Given the description of an element on the screen output the (x, y) to click on. 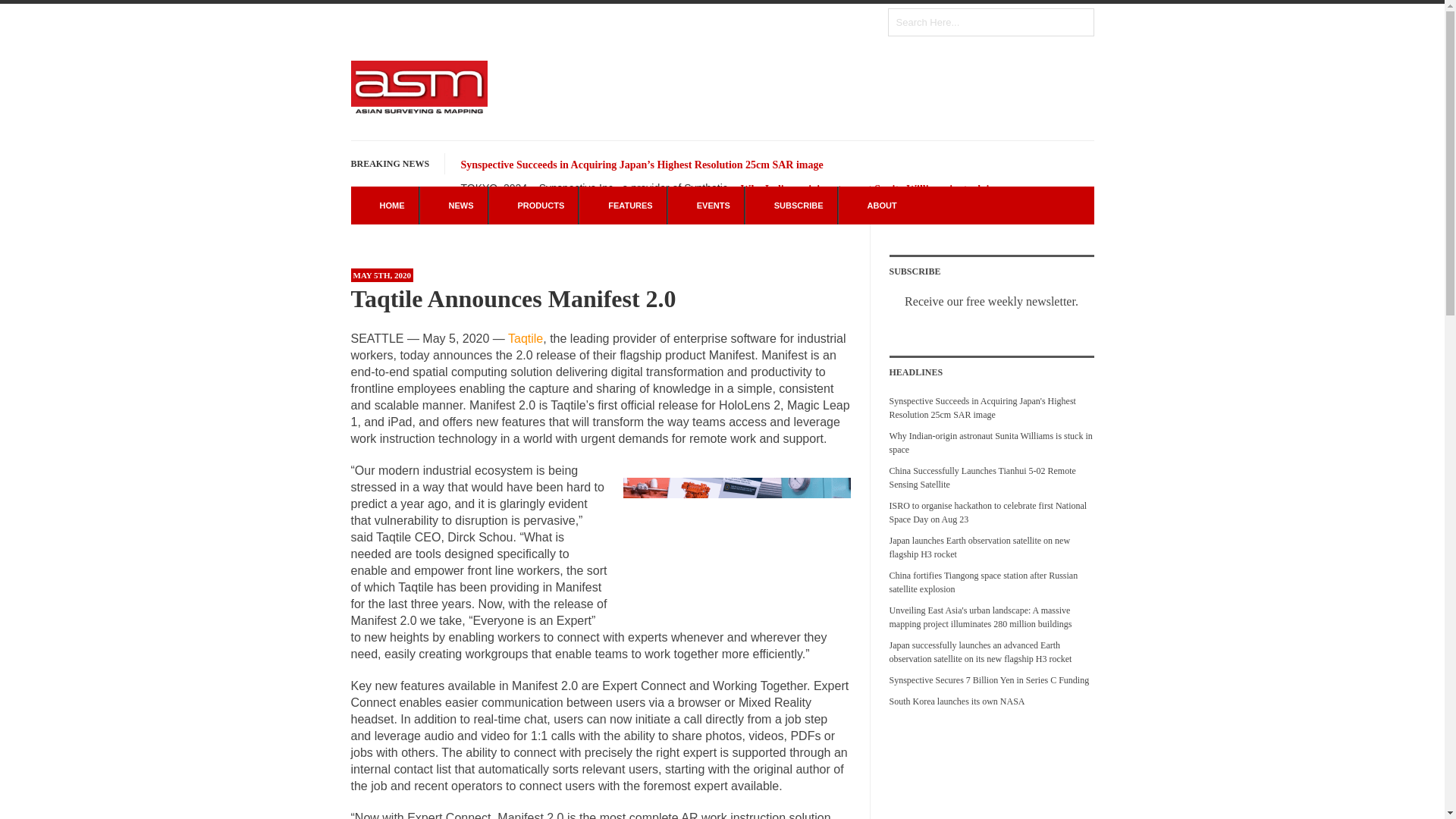
Informed Infrastructure (840, 22)
RSS (582, 22)
Linkedin (711, 22)
Twitter (647, 22)
EVENTS (705, 205)
Search Here... (989, 22)
NEWS (453, 205)
PRODUCTS (533, 205)
Google plus (679, 22)
FEATURES (622, 205)
Digg (840, 22)
Facebook (614, 22)
Earth Imaging Journal (775, 22)
Facebook (614, 22)
SUBSCRIBE (791, 205)
